Given the description of an element on the screen output the (x, y) to click on. 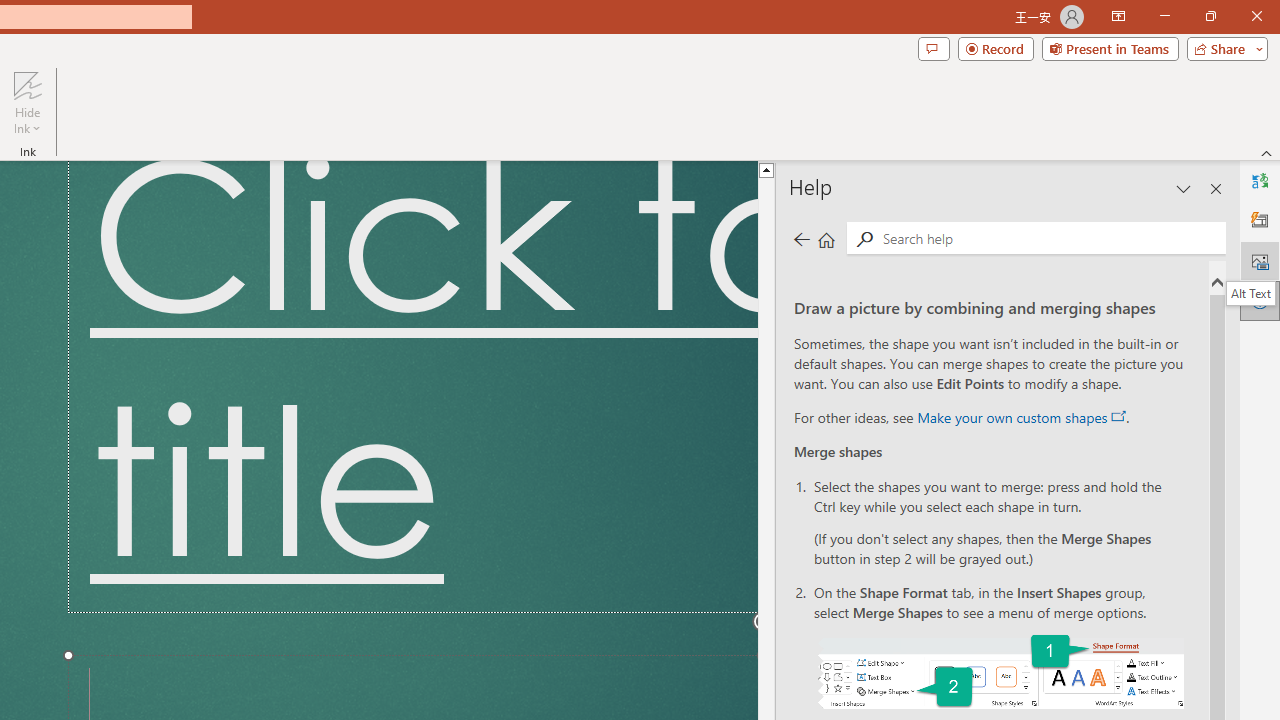
Comments (933, 48)
Task Pane Options (1183, 188)
Designer (1260, 220)
Previous page (801, 238)
Ribbon Display Options (1118, 16)
Restore Down (1210, 16)
Share (1223, 48)
Present in Teams (1109, 48)
openinnewwindow (1118, 416)
Close pane (1215, 188)
More Options (27, 121)
Search (1049, 237)
Alt Text (1260, 260)
Close (1256, 16)
